Given the description of an element on the screen output the (x, y) to click on. 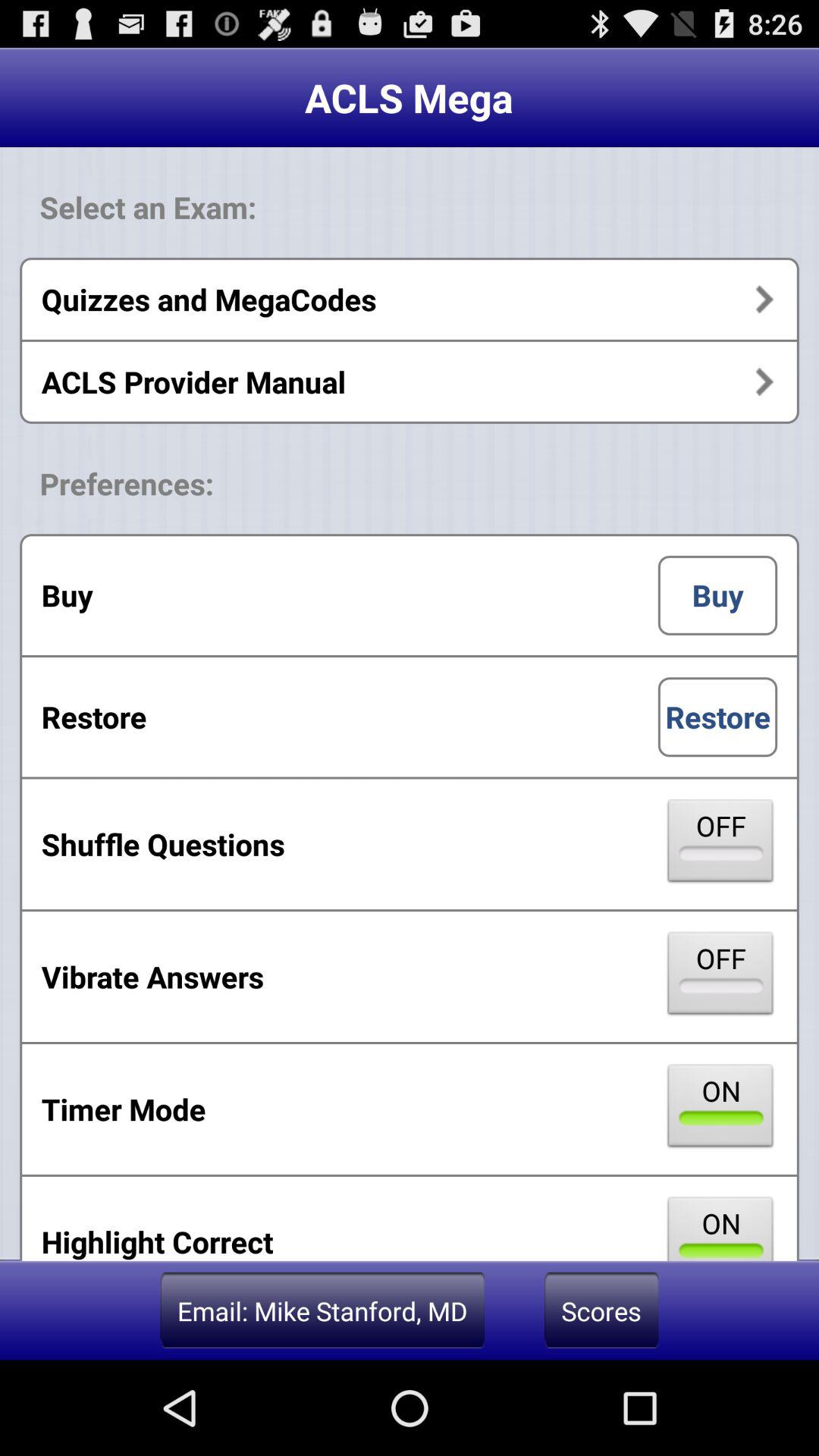
scroll to the quizzes and megacodes app (409, 299)
